Given the description of an element on the screen output the (x, y) to click on. 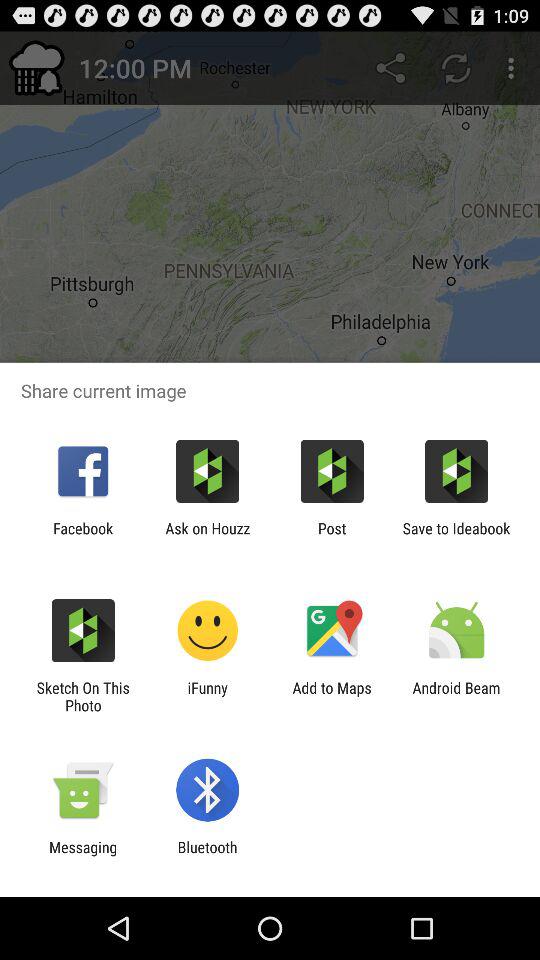
launch icon next to the add to maps app (456, 696)
